Given the description of an element on the screen output the (x, y) to click on. 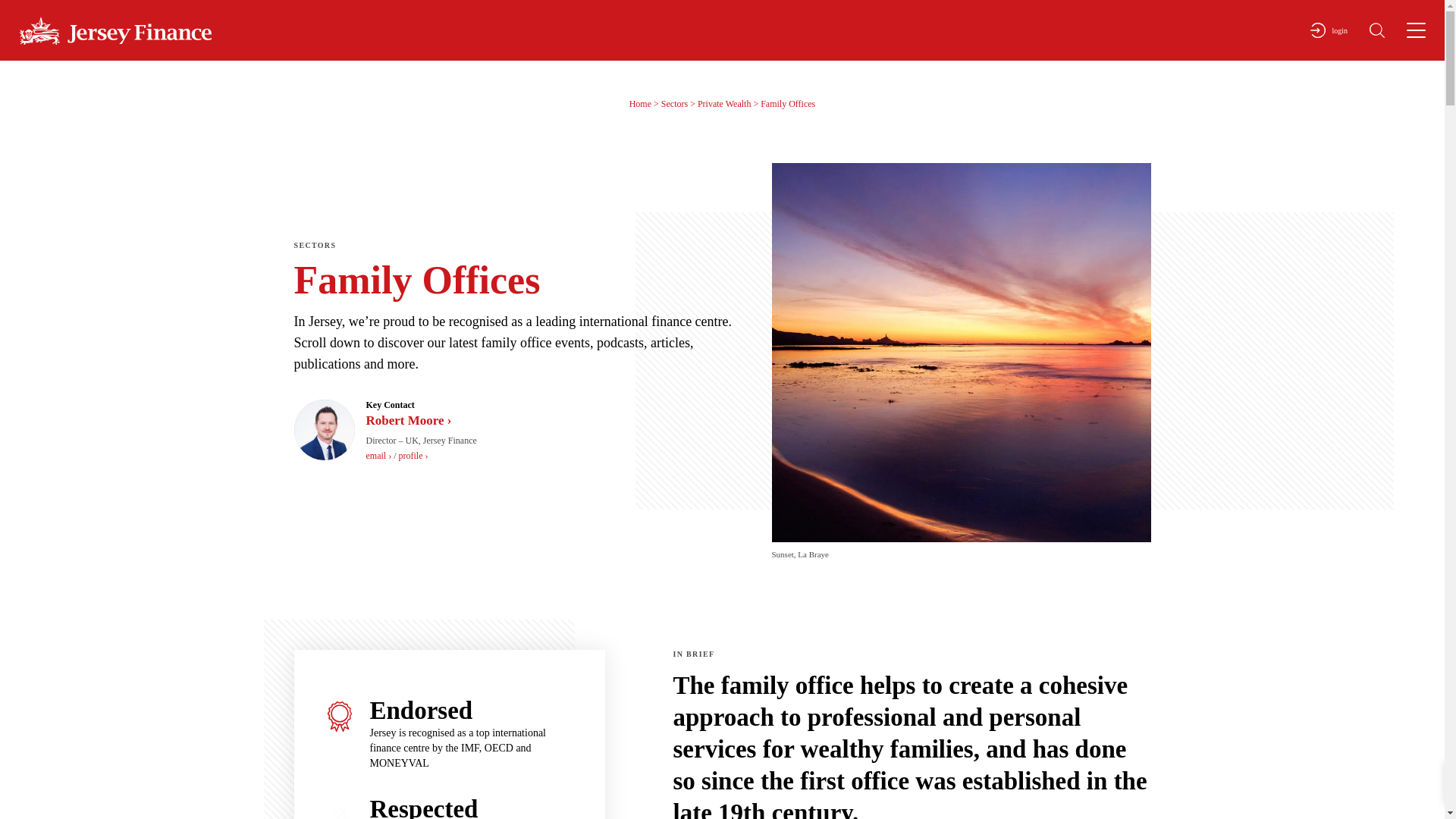
login (1329, 29)
